Given the description of an element on the screen output the (x, y) to click on. 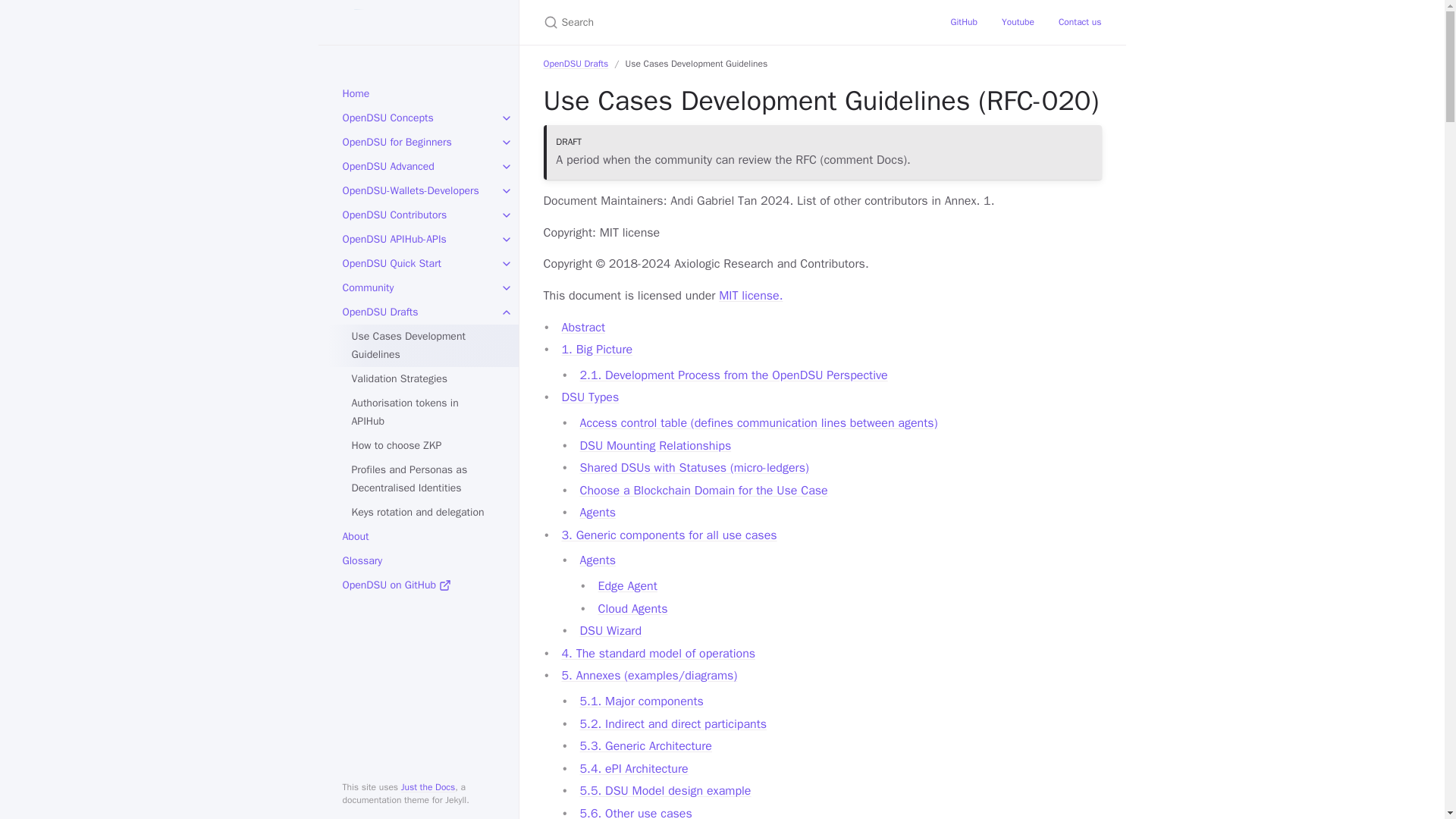
OpenDSU Advanced (418, 166)
OpenDSU Concepts (418, 118)
OpenDSU for Beginners (418, 142)
Home (418, 93)
